Given the description of an element on the screen output the (x, y) to click on. 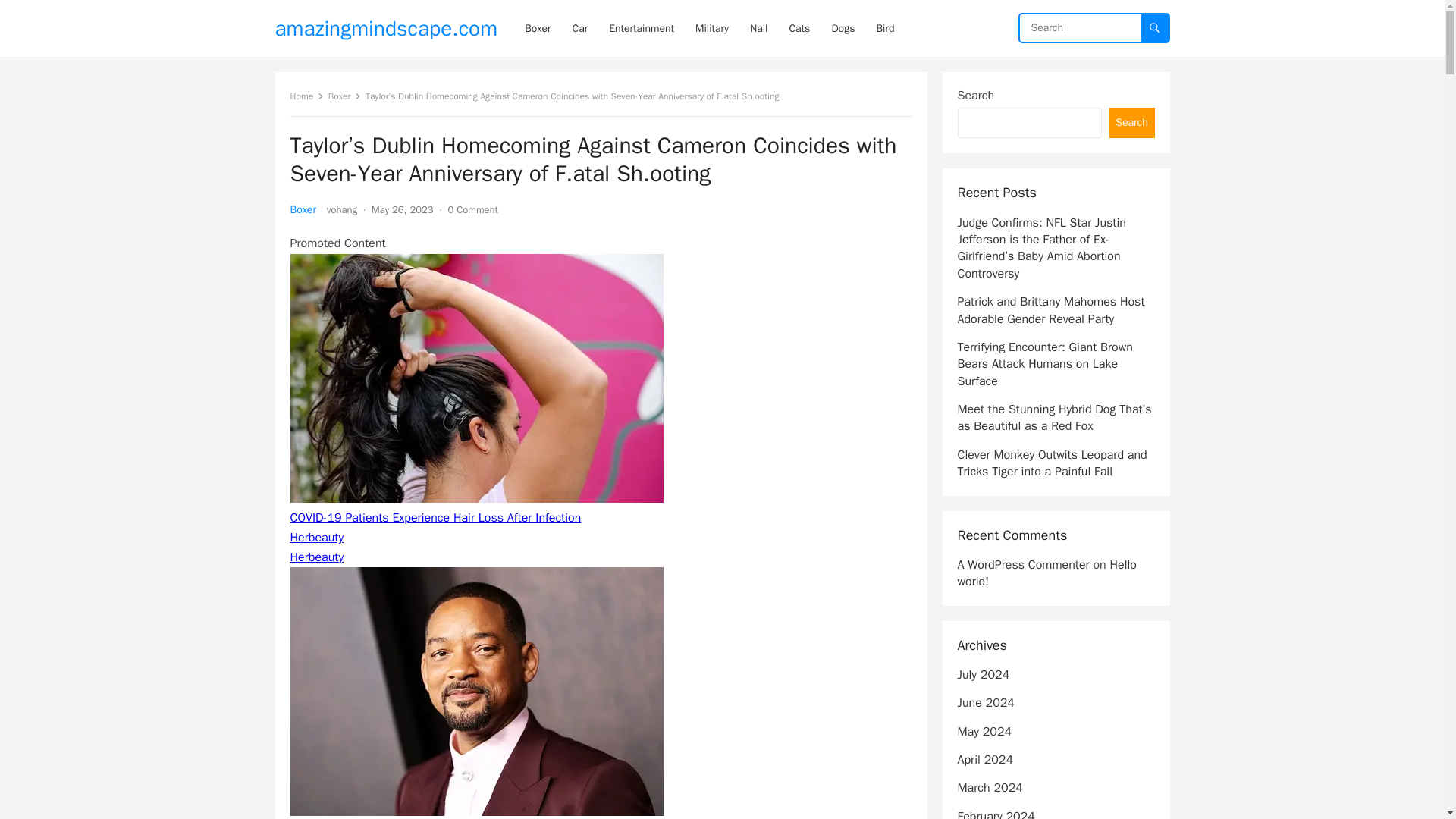
amazingmindscape.com (386, 28)
Military (711, 28)
Entertainment (640, 28)
Boxer (345, 96)
Home (306, 96)
vohang (341, 209)
Posts by vohang (341, 209)
0 Comment (472, 209)
Boxer (302, 209)
